Given the description of an element on the screen output the (x, y) to click on. 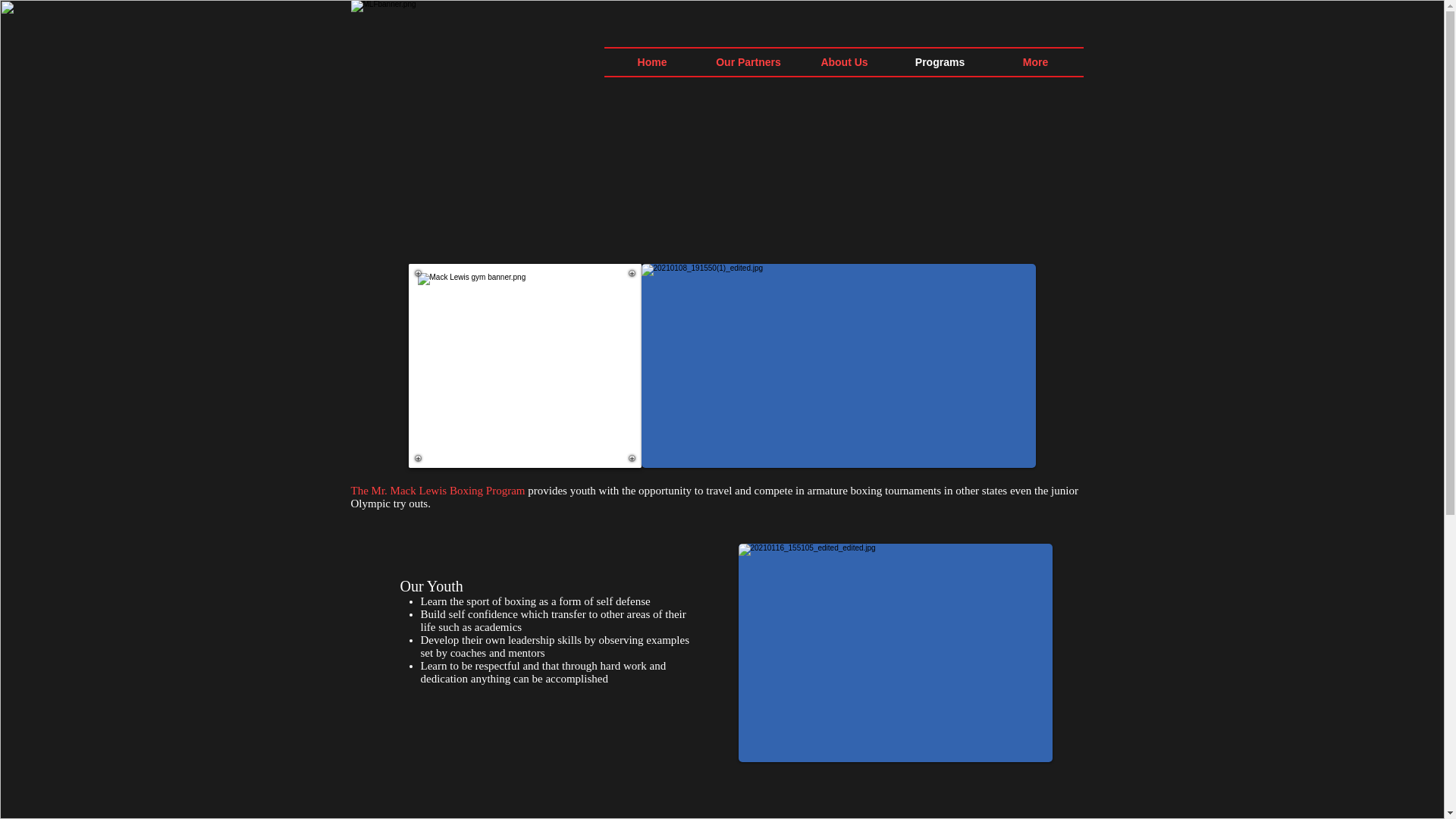
Our Partners (748, 62)
About Us (843, 62)
Home (652, 62)
Programs (939, 62)
